Given the description of an element on the screen output the (x, y) to click on. 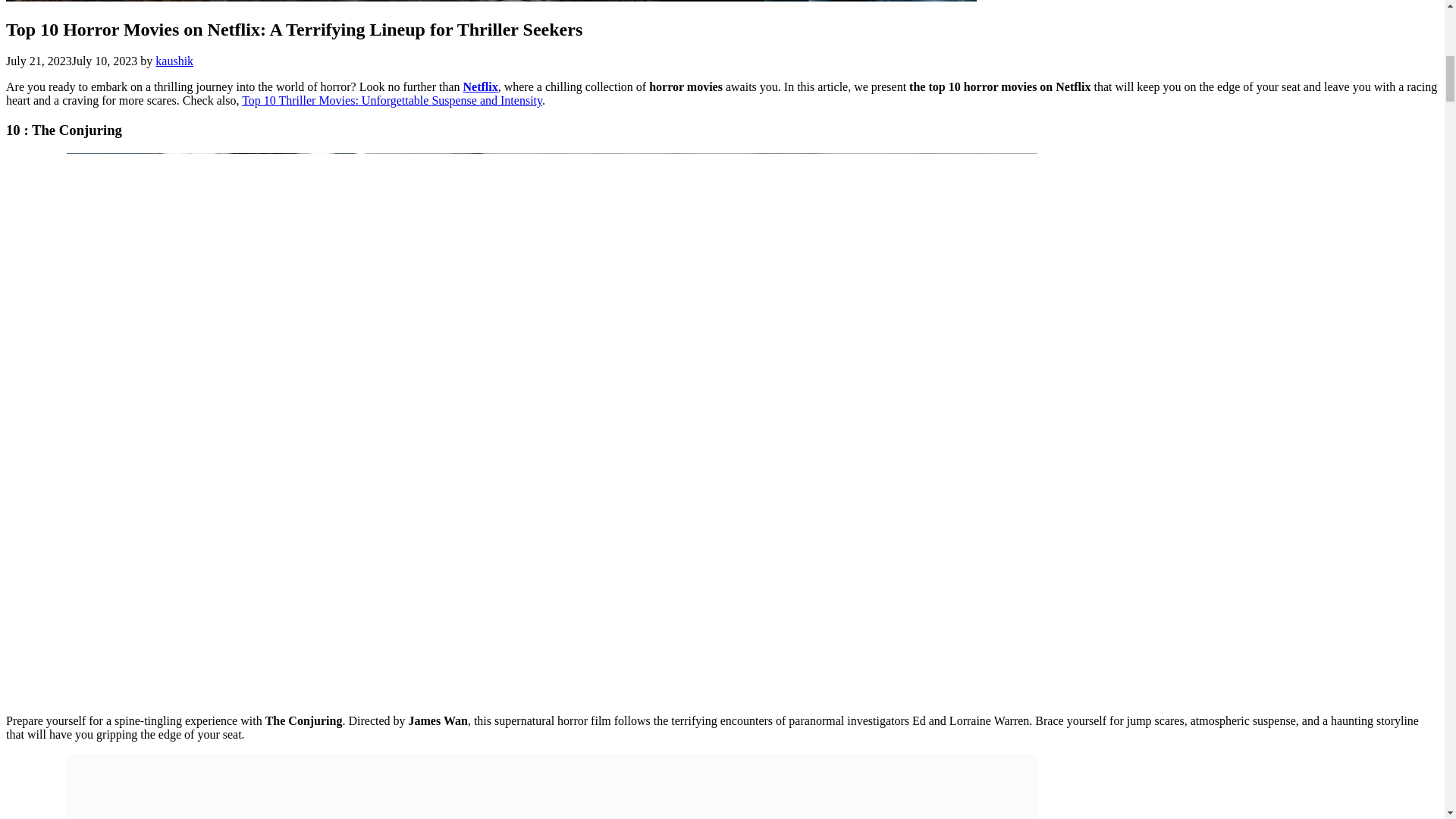
Top 10 Thriller Movies: Unforgettable Suspense and Intensity (391, 100)
kaushik (174, 60)
Netflix (480, 86)
View all posts by kaushik (174, 60)
